Given the description of an element on the screen output the (x, y) to click on. 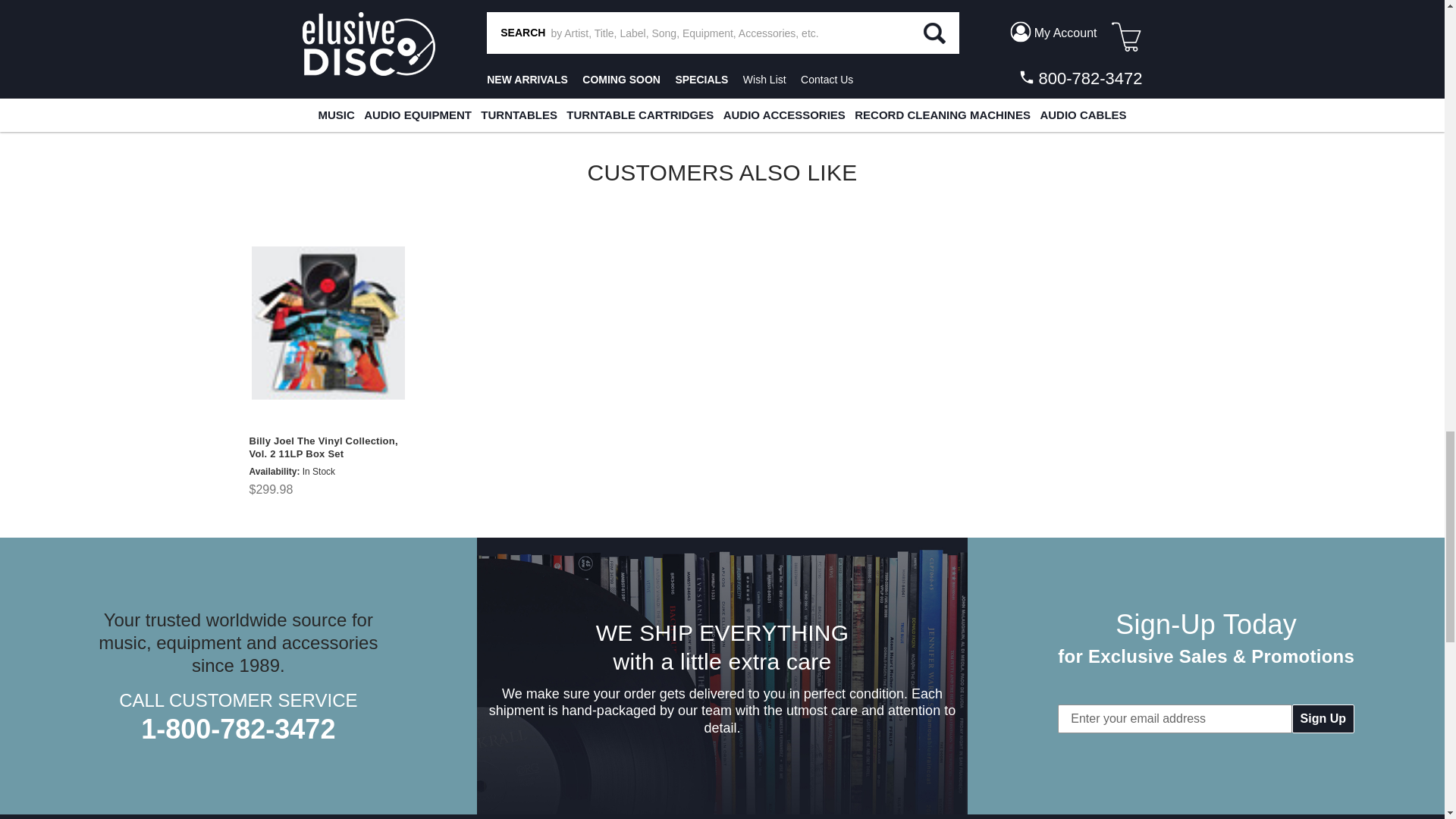
Sign Up (1323, 718)
Billy Joel The Vinyl Collection, Vol. 2 11LP Box Set (327, 322)
